Given the description of an element on the screen output the (x, y) to click on. 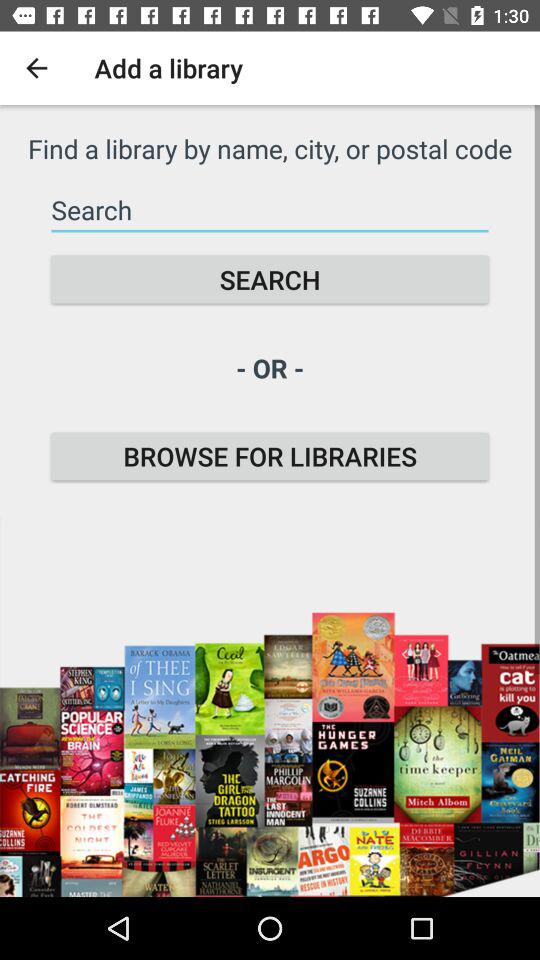
enter text for search (269, 210)
